Given the description of an element on the screen output the (x, y) to click on. 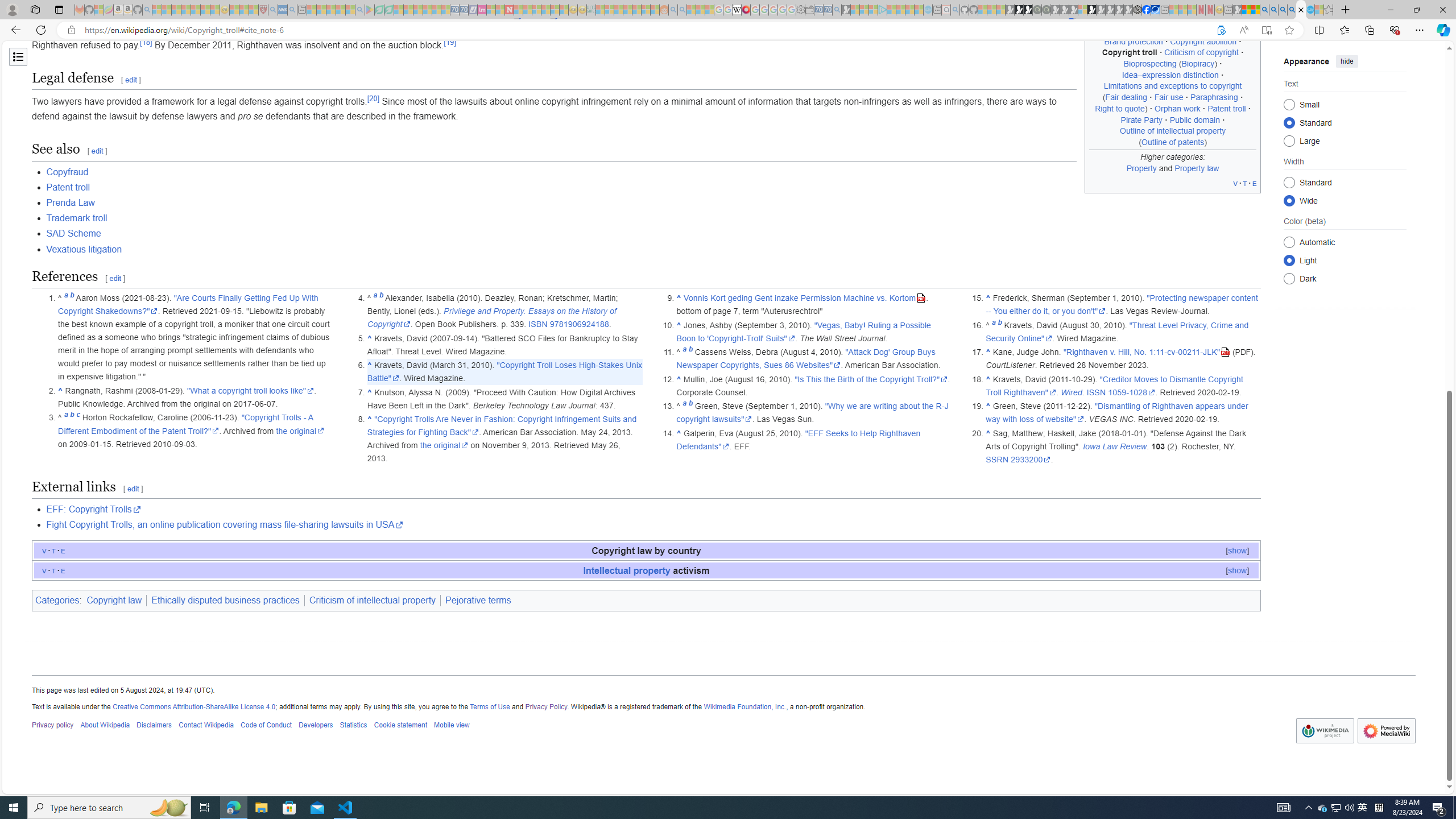
ISSN (1096, 392)
[19] (449, 41)
"Copyright Troll Loses High-Stakes Unix Battle" (504, 371)
Light (1289, 259)
Vonnis Kort geding Gent inzake Permission Machine vs. Kortom (805, 298)
"EFF Seeks to Help Righthaven Defendants" (797, 439)
v (44, 569)
"Why we are writing about the R-J copyright lawsuits" (812, 412)
Copyright abolition (1203, 40)
